Given the description of an element on the screen output the (x, y) to click on. 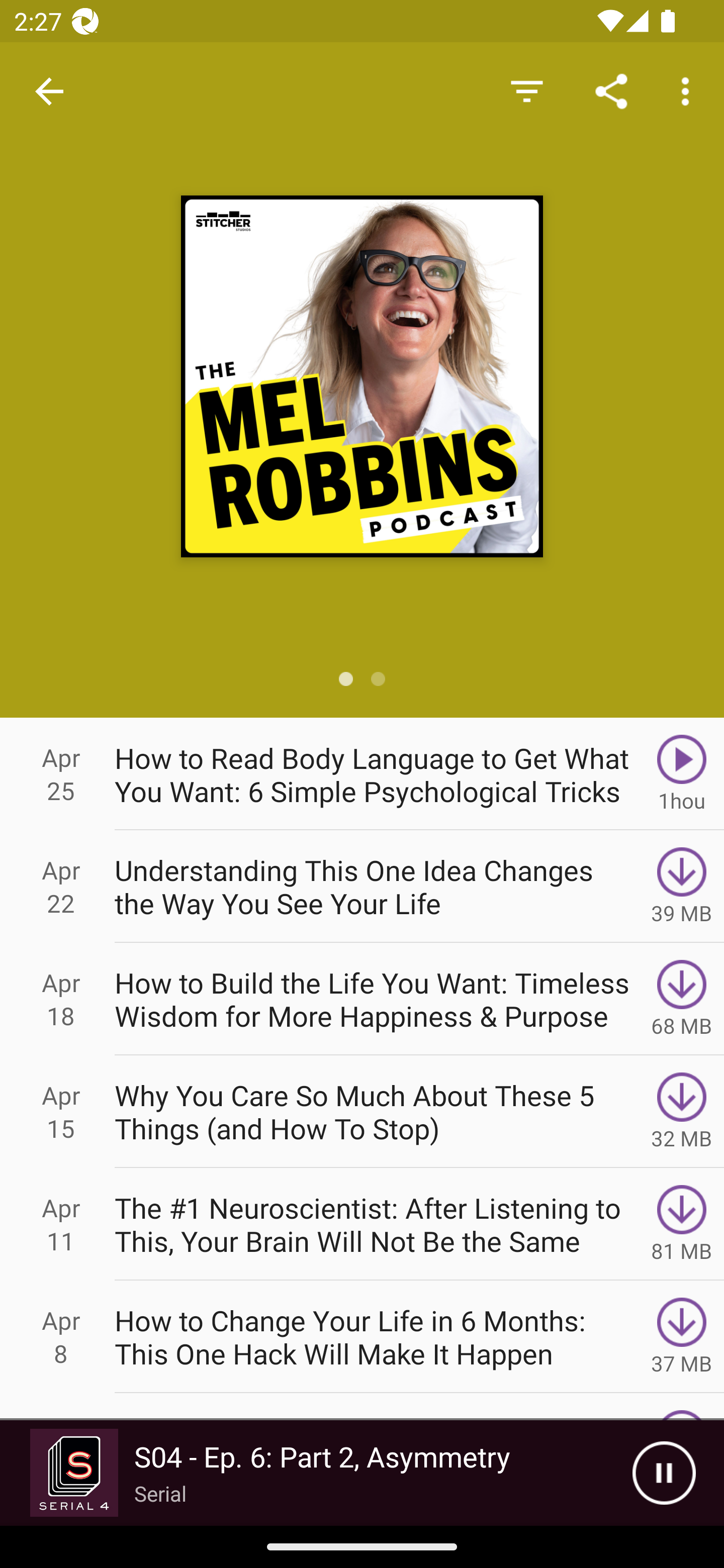
Navigate up (49, 91)
Hide Episodes (526, 90)
Share Link (611, 90)
More options (688, 90)
Play 1hou (681, 773)
Download 39 MB (681, 885)
Download 68 MB (681, 998)
Download 32 MB (681, 1111)
Download 81 MB (681, 1224)
Download 37 MB (681, 1336)
Picture S04 - Ep. 6: Part 2, Asymmetry Serial (316, 1472)
Pause (663, 1472)
